Given the description of an element on the screen output the (x, y) to click on. 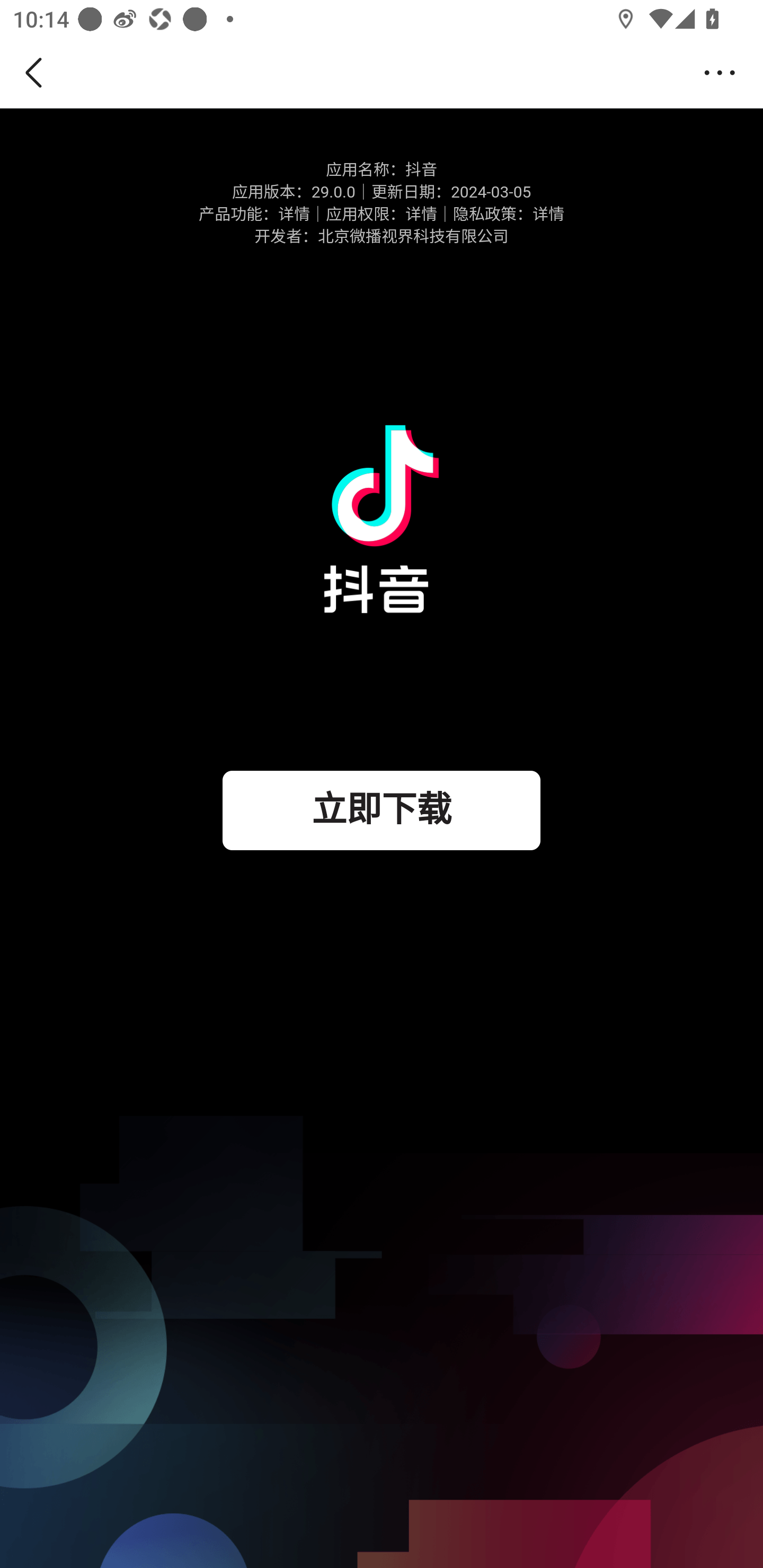
返回，按钮 (37, 72)
更多 (725, 72)
立即下载 (381, 810)
